Given the description of an element on the screen output the (x, y) to click on. 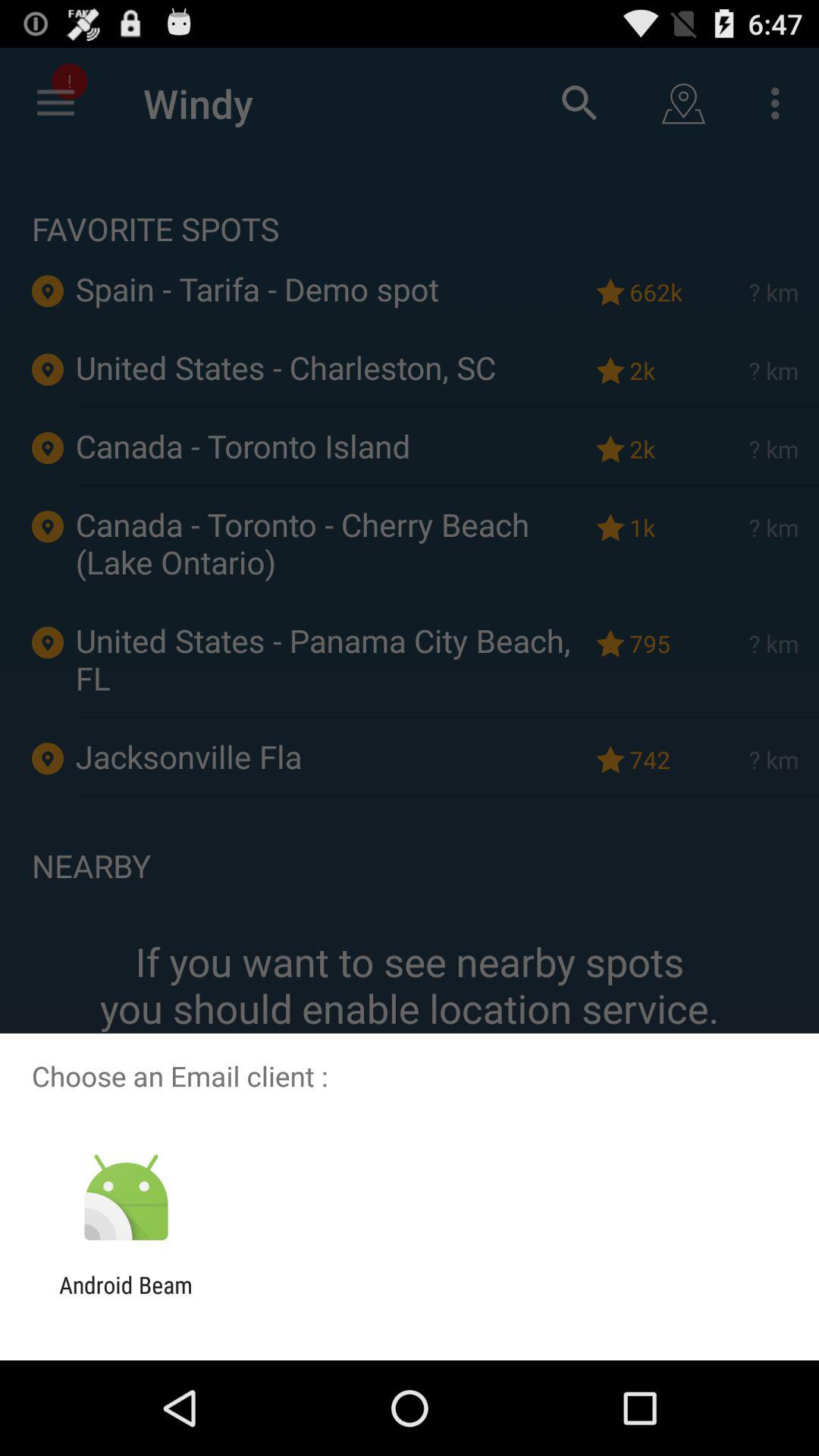
tap the android beam icon (125, 1298)
